Given the description of an element on the screen output the (x, y) to click on. 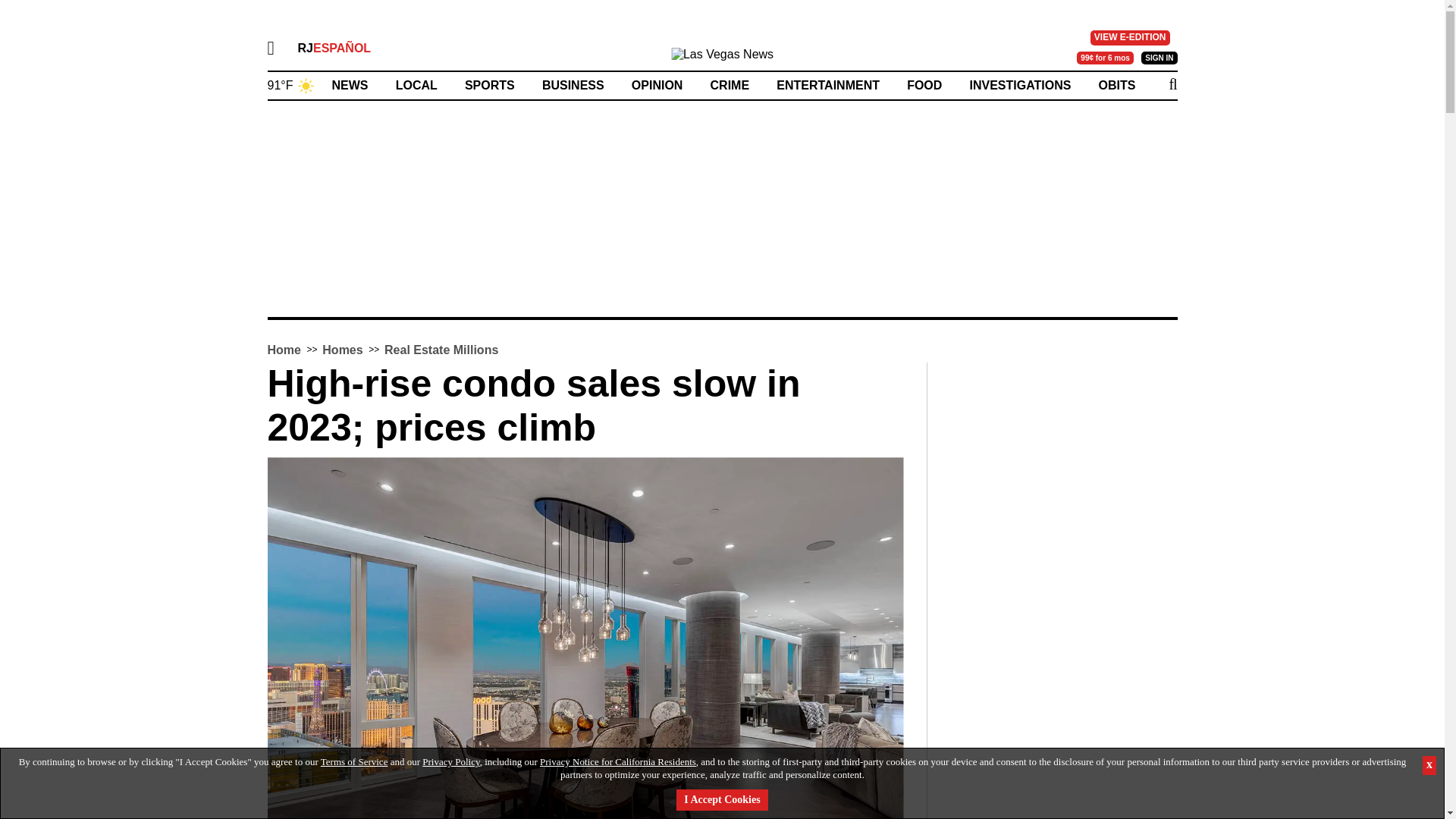
INVESTIGATIONS (1019, 84)
Weather Forecast (290, 83)
OPINION (656, 84)
LOCAL (417, 84)
ENTERTAINMENT (827, 84)
VIEW E-EDITION (1130, 37)
BUSINESS (572, 84)
SPORTS (489, 84)
Las Vegas News (722, 58)
NEWS (349, 84)
FOOD (924, 84)
OBITS (1117, 84)
SIGN IN (1158, 58)
CRIME (729, 84)
